Given the description of an element on the screen output the (x, y) to click on. 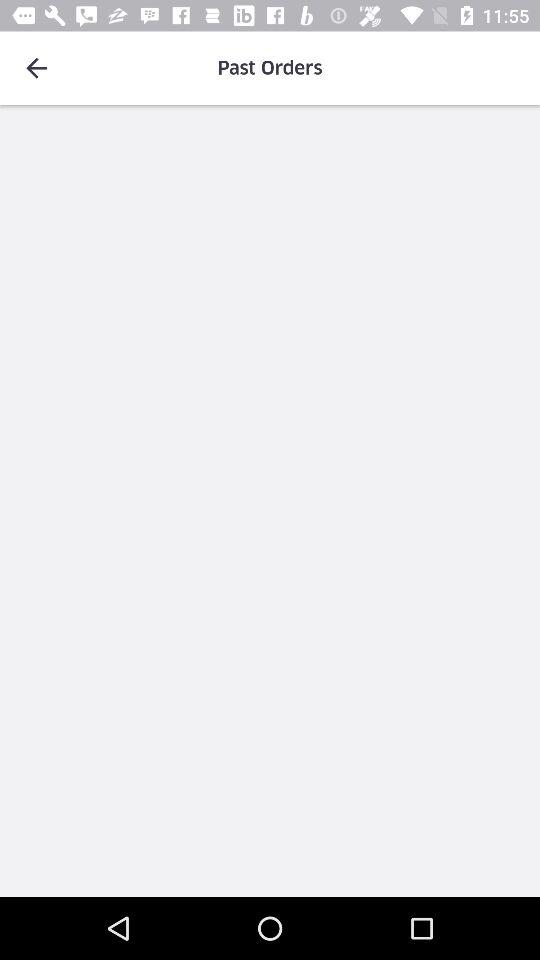
choose item to the left of the past orders (36, 68)
